Given the description of an element on the screen output the (x, y) to click on. 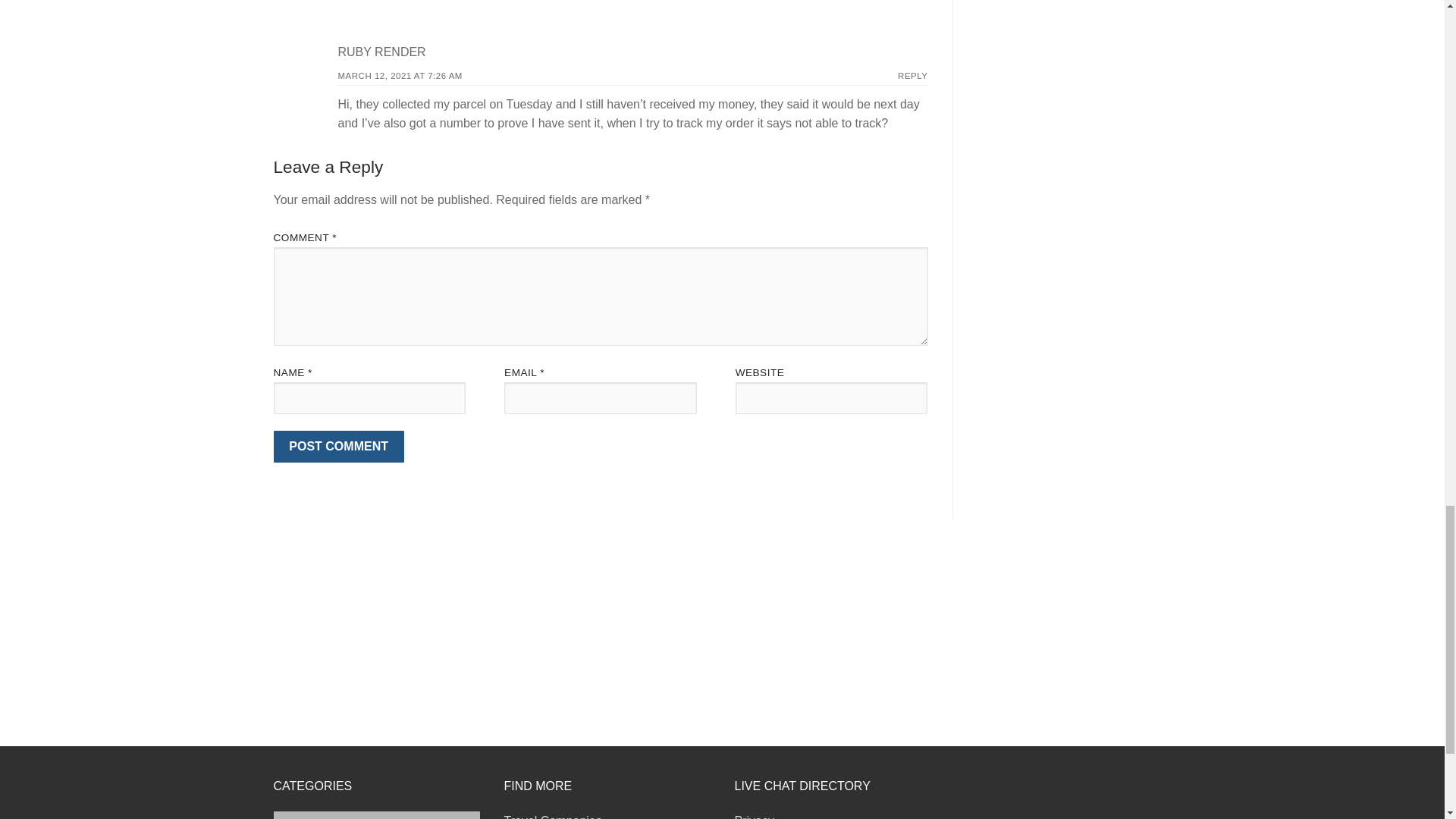
Post Comment (338, 446)
